Given the description of an element on the screen output the (x, y) to click on. 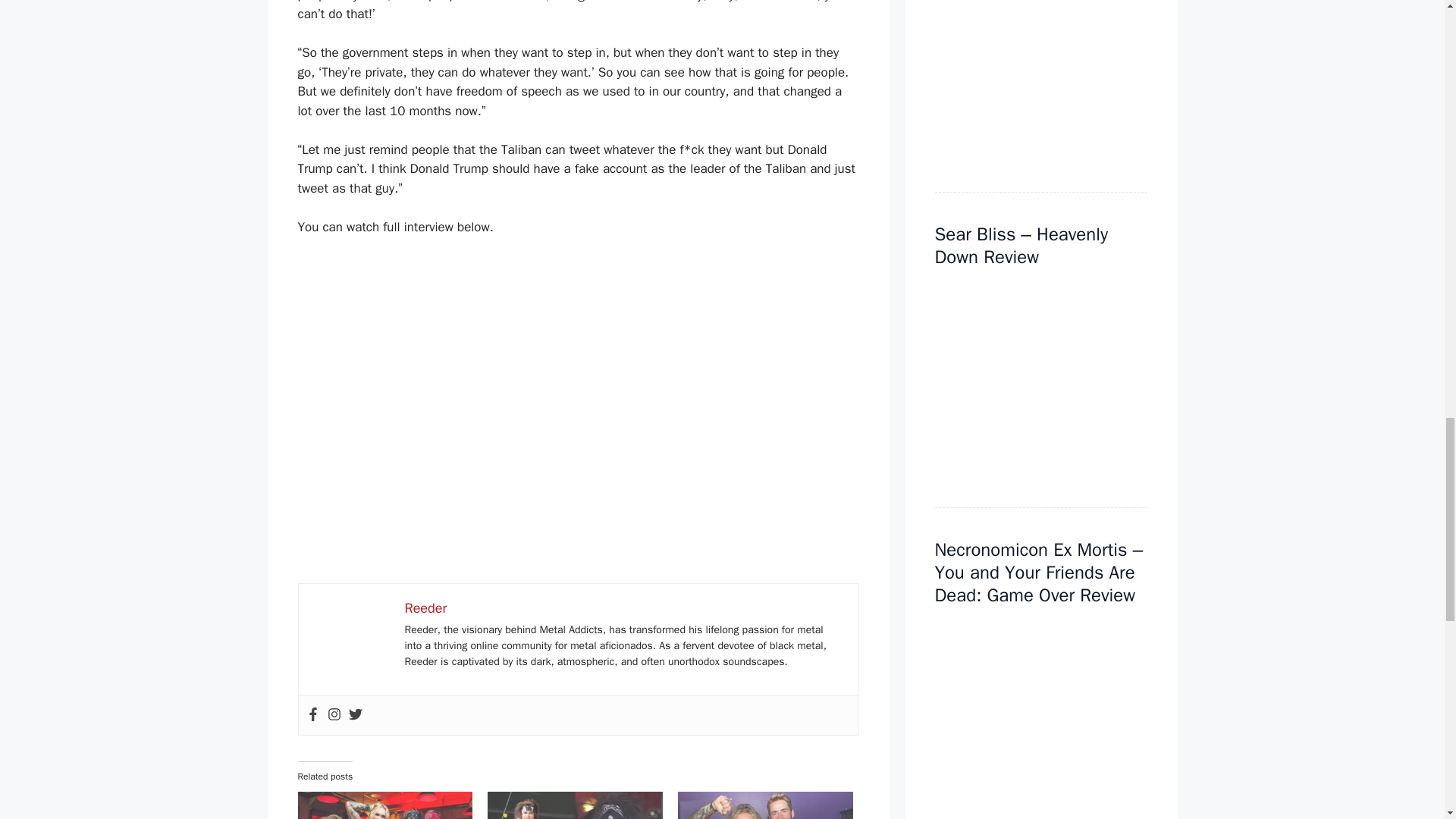
Reeder (425, 607)
